Given the description of an element on the screen output the (x, y) to click on. 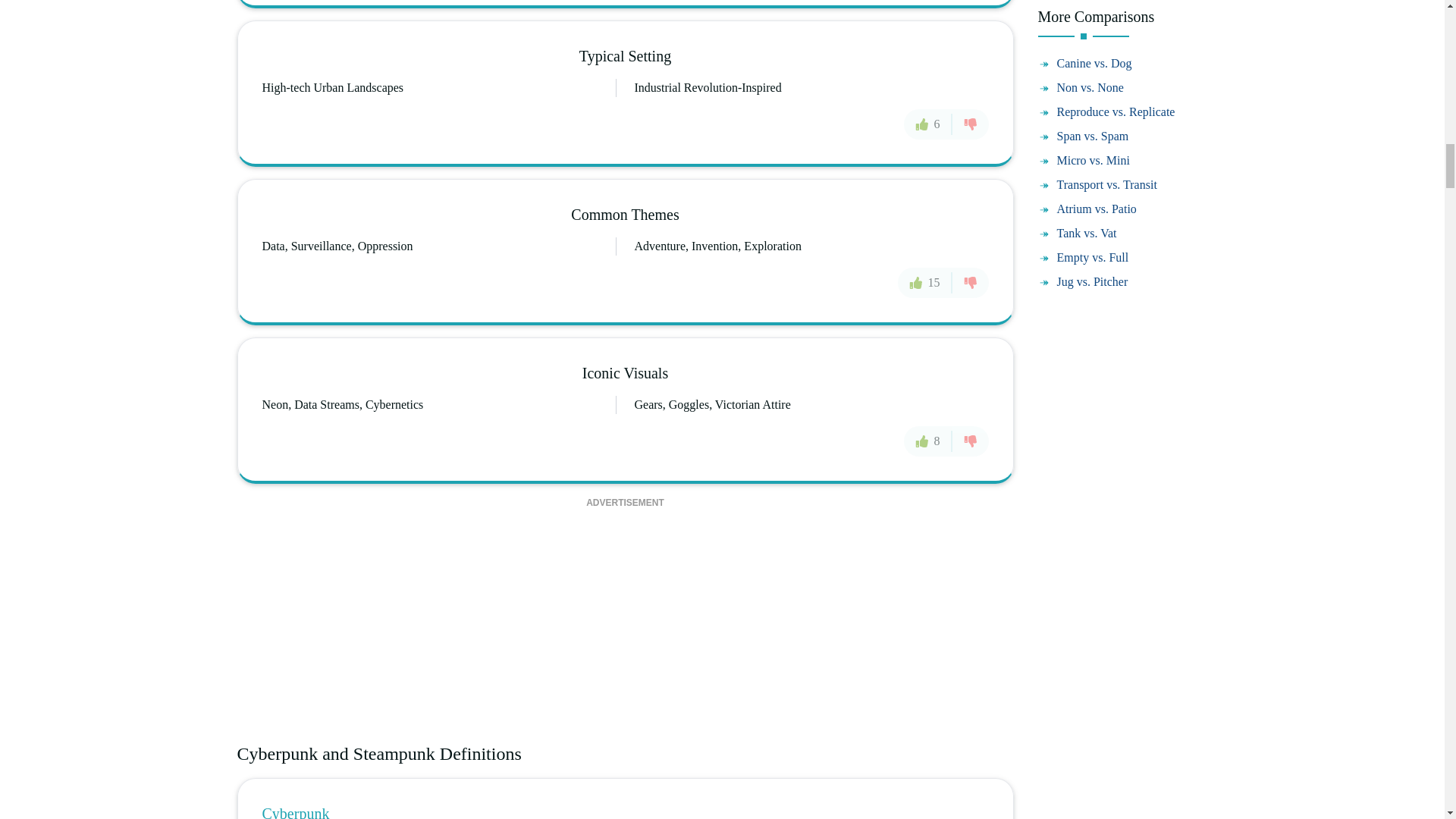
15 (925, 282)
8 (928, 440)
6 (928, 123)
